Given the description of an element on the screen output the (x, y) to click on. 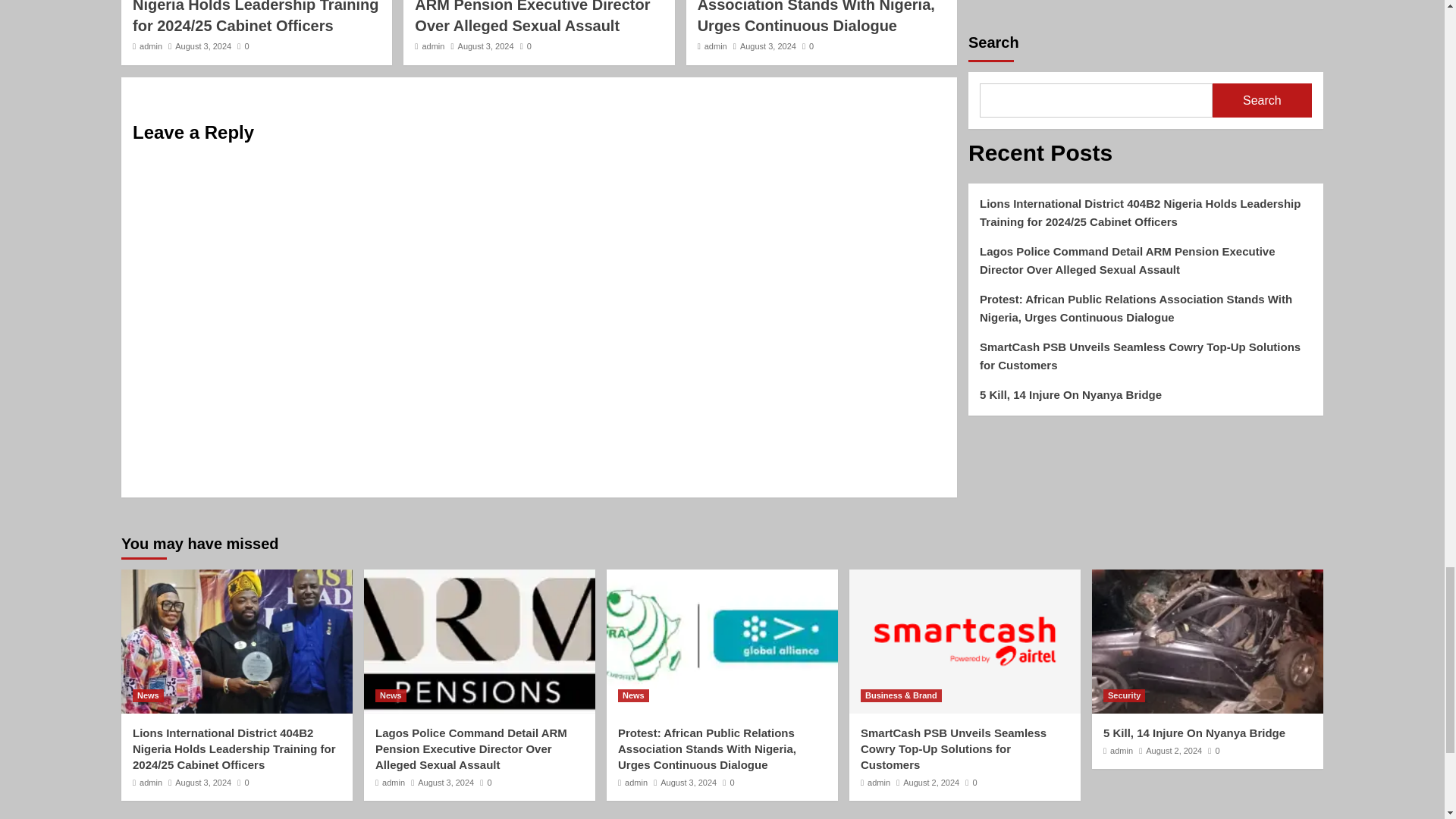
admin (150, 45)
